Given the description of an element on the screen output the (x, y) to click on. 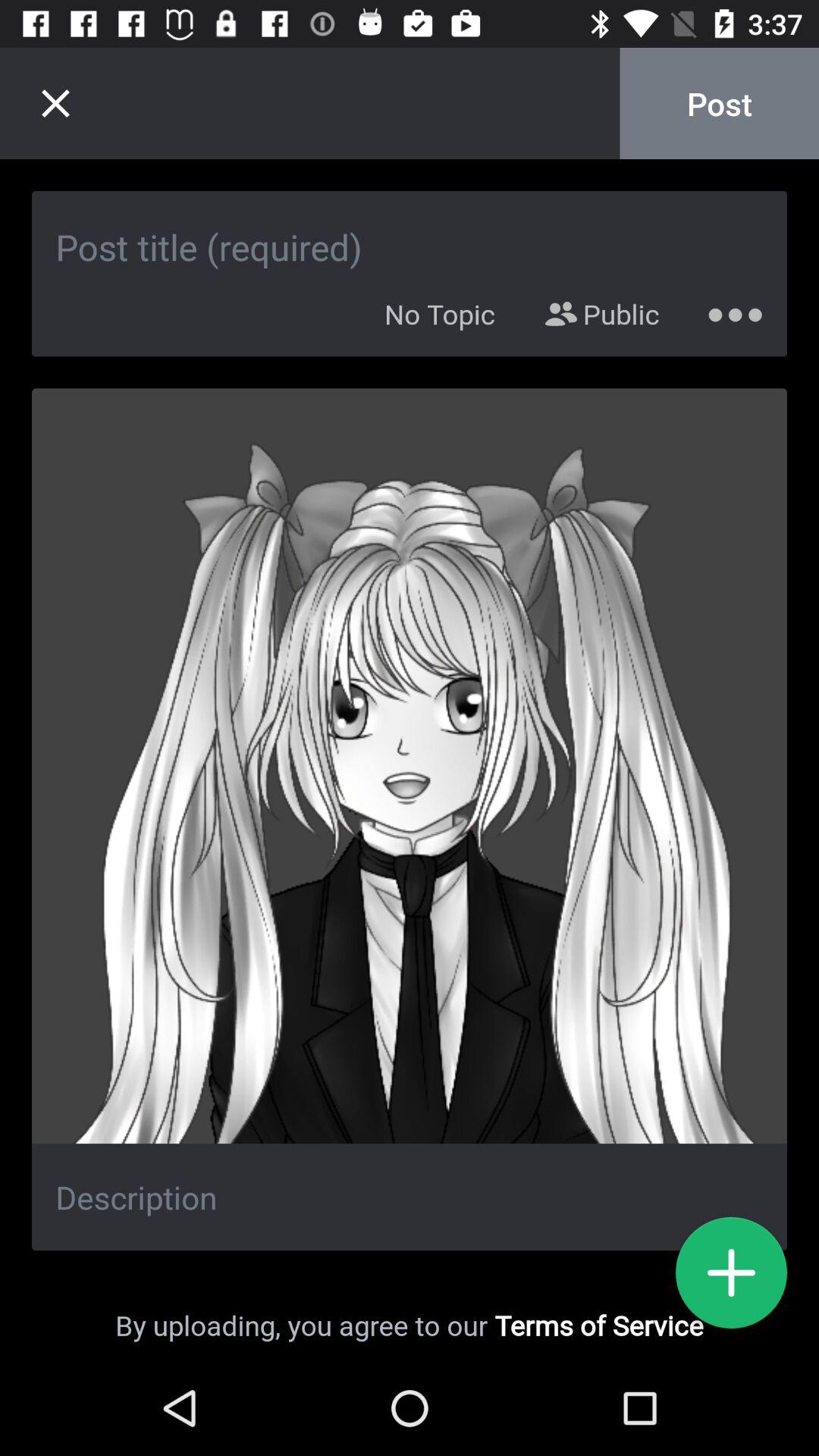
add a picture (731, 1272)
